Given the description of an element on the screen output the (x, y) to click on. 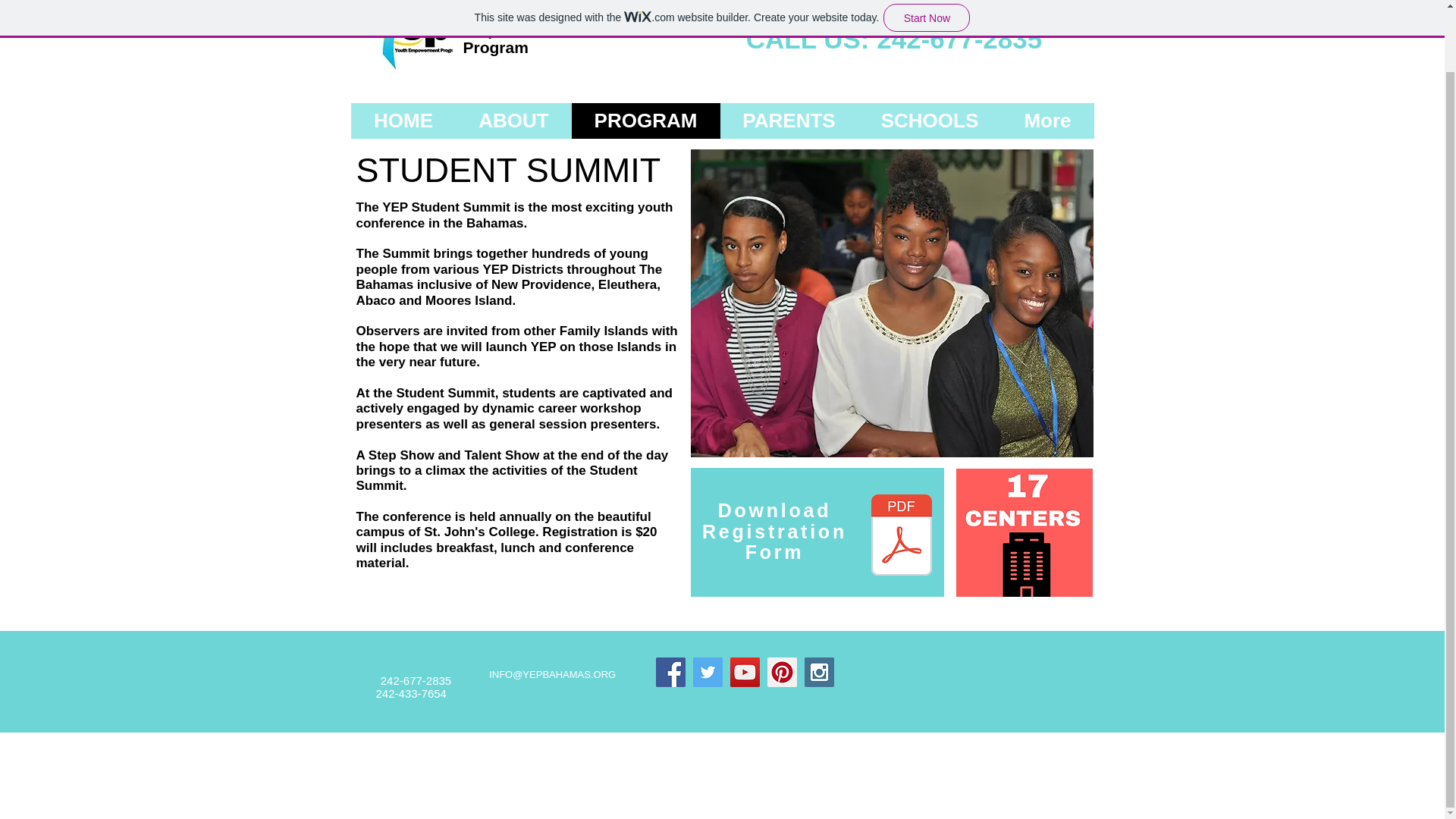
PARENTS (789, 120)
HOME (402, 120)
yep logo.jpg (406, 36)
SCHOOLS (930, 120)
ABOUT (514, 120)
PROGRAM (646, 120)
Youth (484, 12)
